Given the description of an element on the screen output the (x, y) to click on. 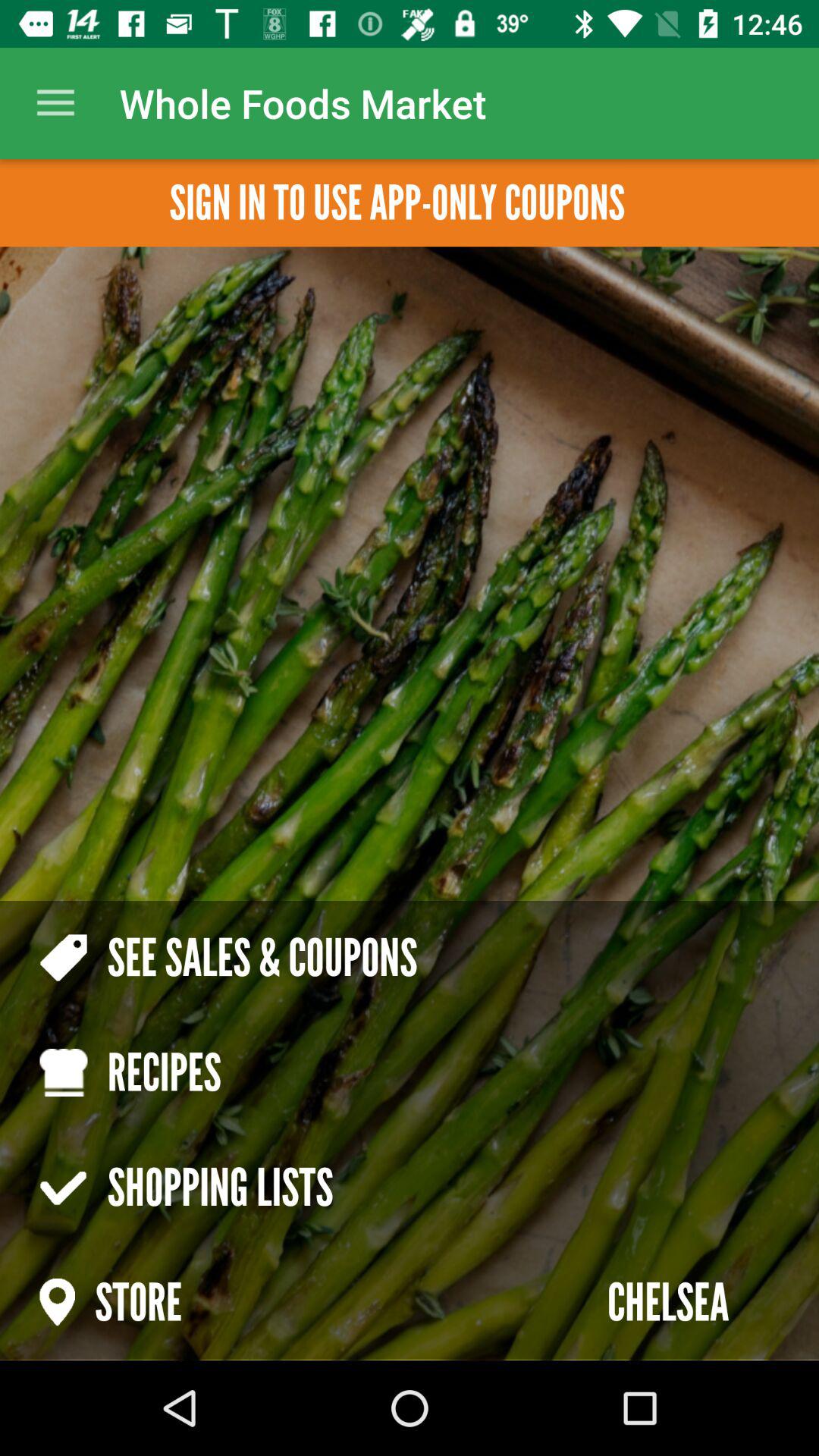
turn off icon above the see sales & coupons item (55, 103)
